Given the description of an element on the screen output the (x, y) to click on. 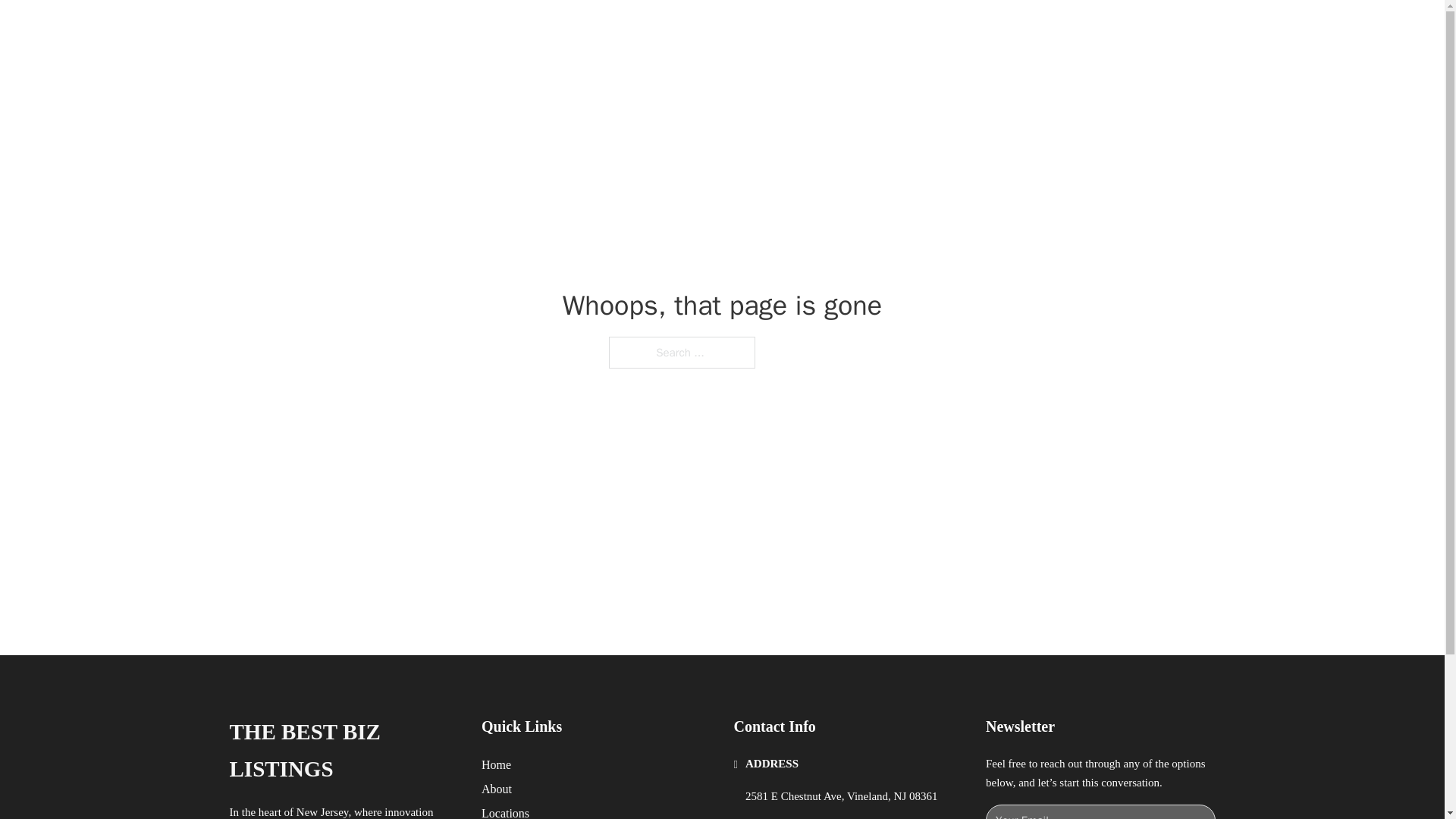
THE BEST BIZ LISTINGS (426, 28)
Locations (505, 811)
THE BEST BIZ LISTINGS (343, 750)
HOME (919, 29)
LOCATIONS (990, 29)
Home (496, 764)
About (496, 788)
